Given the description of an element on the screen output the (x, y) to click on. 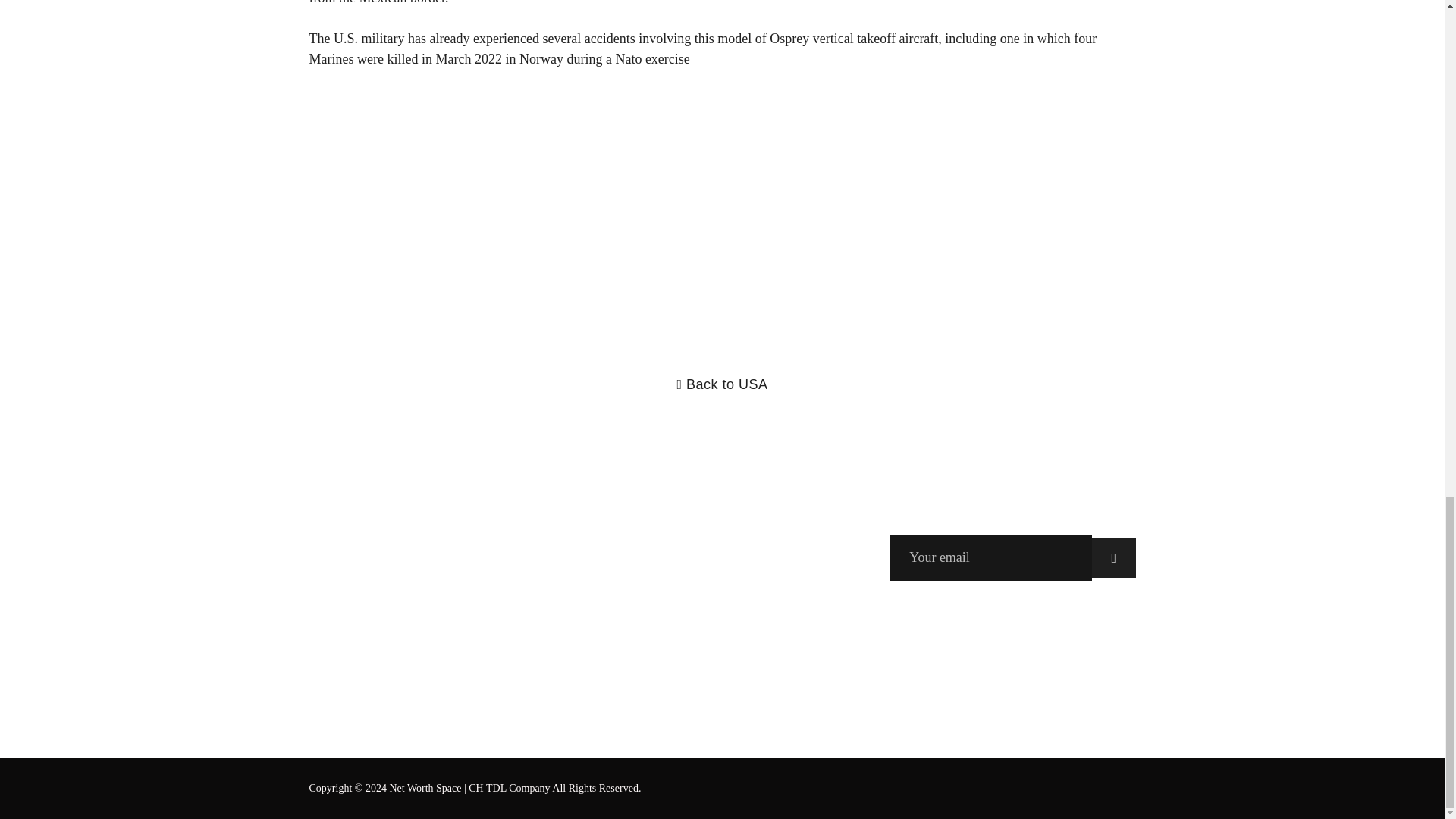
USA (322, 598)
Home (325, 489)
Business (333, 571)
World News (342, 680)
Latest Stories (346, 626)
Celebrity (333, 544)
Tech News (338, 516)
Stock Market (345, 653)
Google News (491, 489)
Facebook (480, 516)
